Given the description of an element on the screen output the (x, y) to click on. 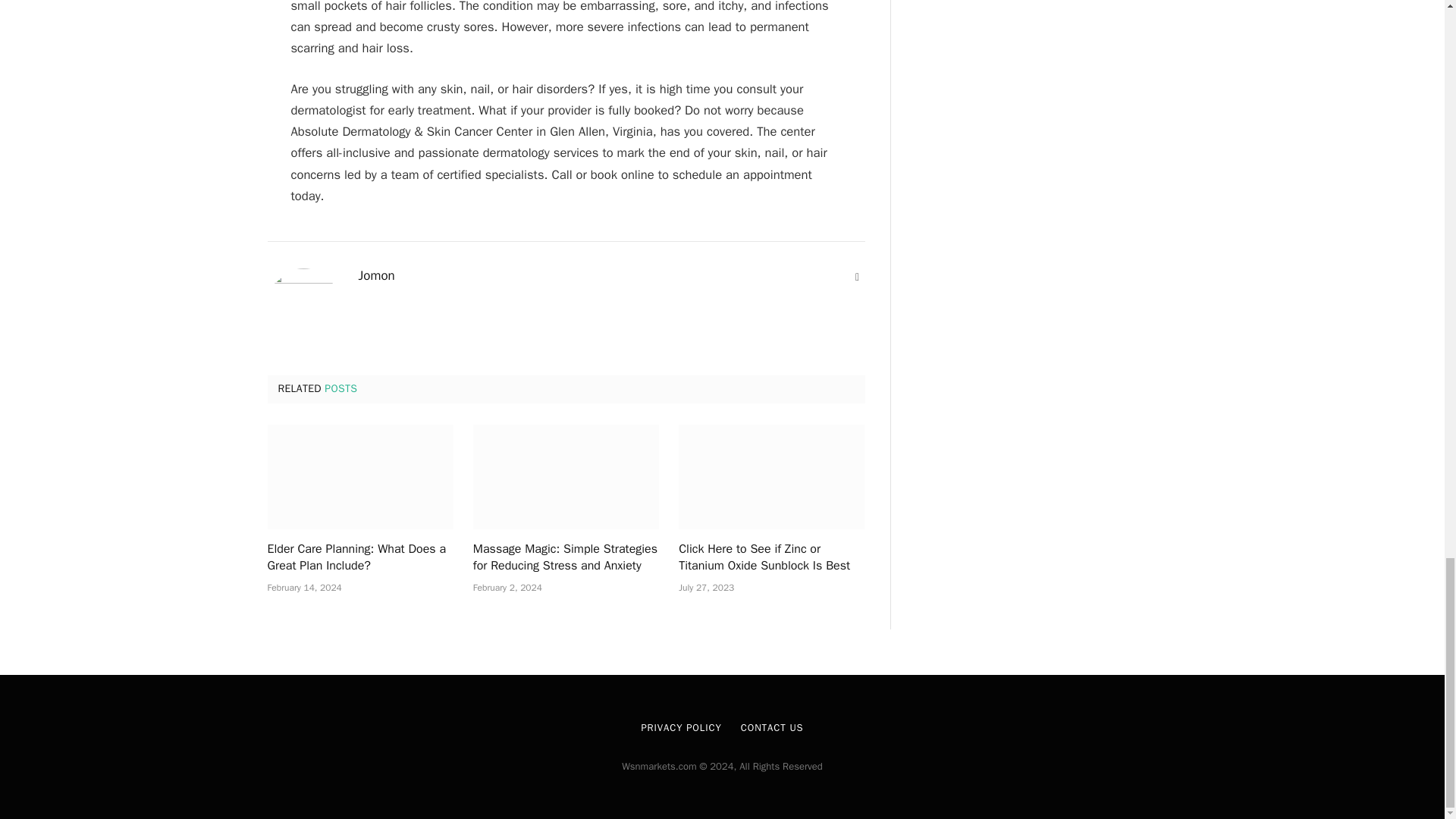
Click Here to See if Zinc or Titanium Oxide Sunblock Is Best (771, 477)
Posts by Jomon (376, 275)
Click Here to See if Zinc or Titanium Oxide Sunblock Is Best (771, 557)
Elder Care Planning: What Does a Great Plan Include? (359, 557)
Website (856, 277)
Website (856, 277)
Elder Care Planning: What Does a Great Plan Include? (359, 477)
Jomon (376, 275)
